Given the description of an element on the screen output the (x, y) to click on. 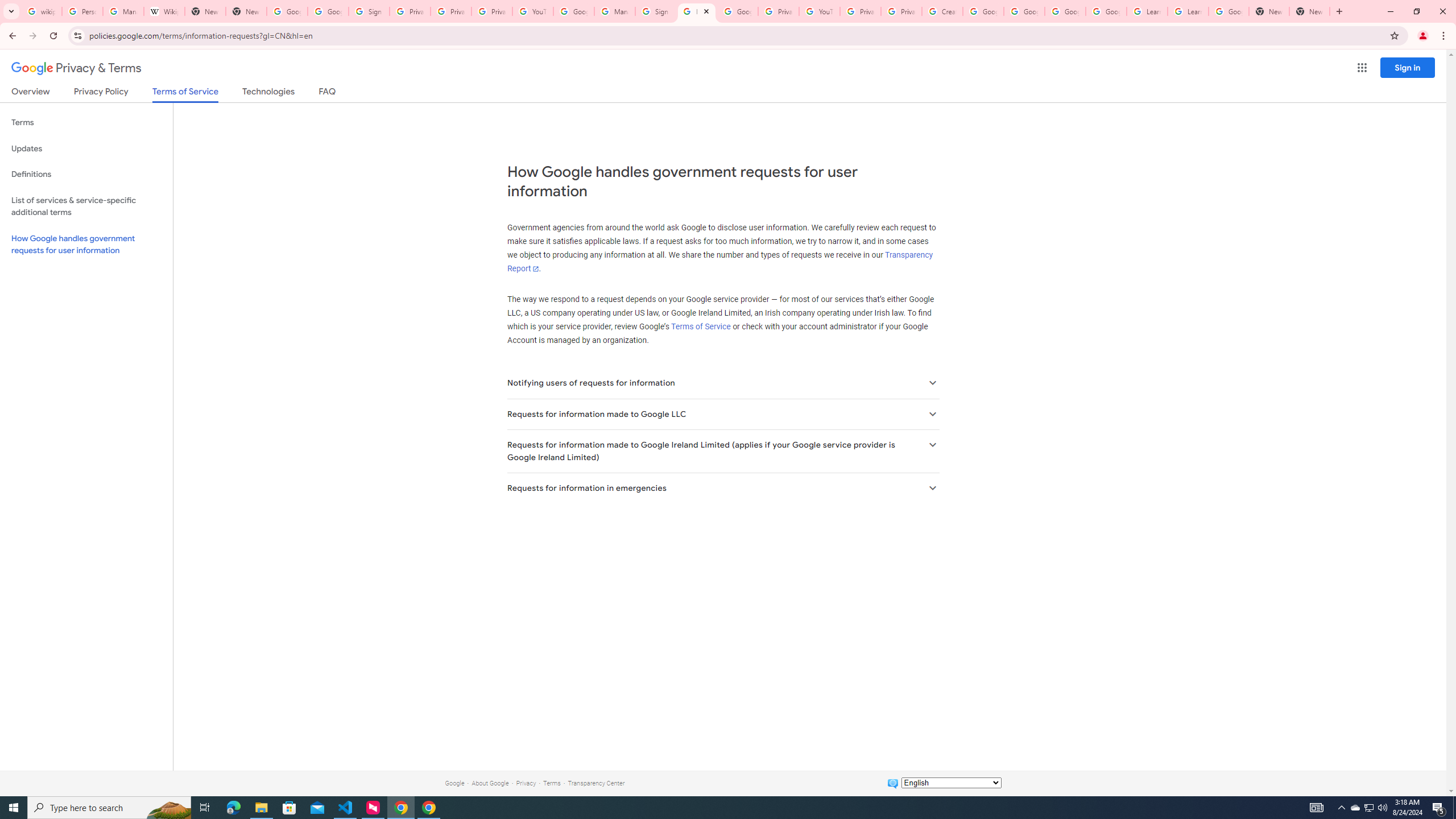
Definitions (86, 174)
Requests for information made to Google LLC (722, 413)
About Google (490, 783)
Change language: (951, 782)
YouTube (818, 11)
Notifying users of requests for information (722, 382)
Google Account (1228, 11)
New Tab (1268, 11)
